Given the description of an element on the screen output the (x, y) to click on. 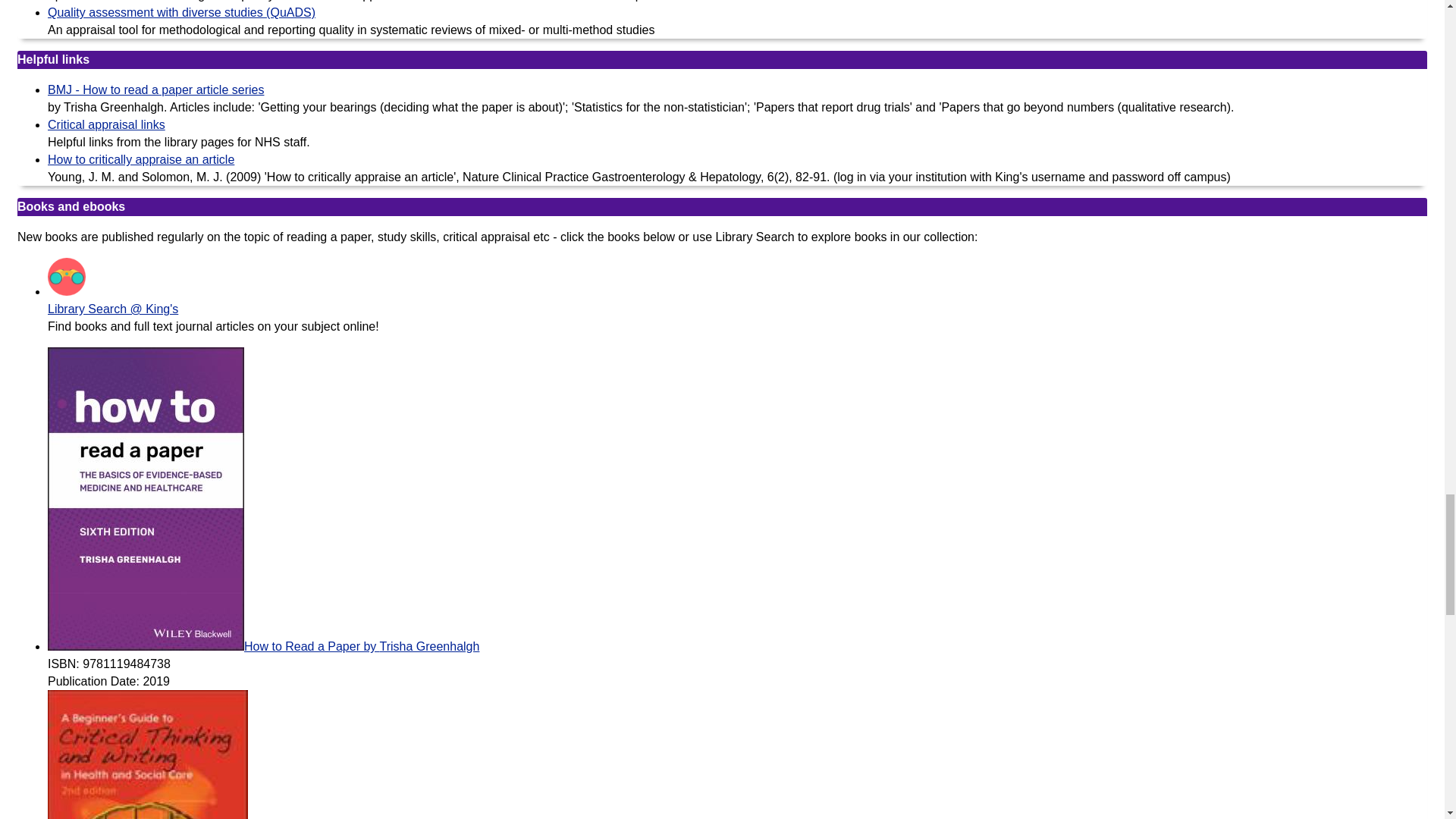
BMJ - How to read a paper article series (155, 89)
How to critically appraise an article (141, 159)
How to Read a Paper by Trisha Greenhalgh (263, 645)
Critical appraisal links (106, 124)
